Given the description of an element on the screen output the (x, y) to click on. 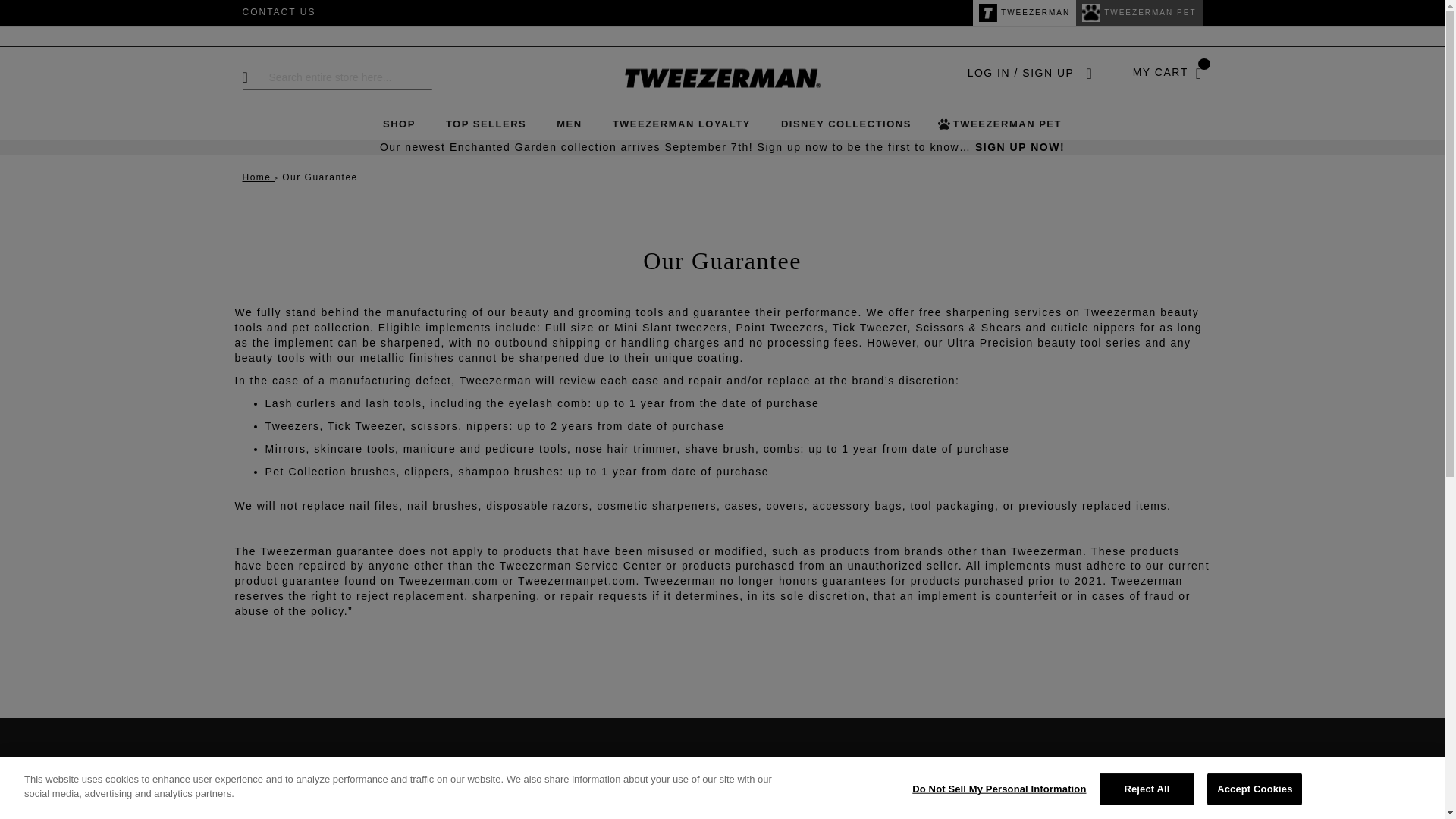
Tweezerman (1023, 12)
Join (1146, 809)
MY CART (1168, 73)
Go to Home Page (259, 176)
Tweezerman Pet (1138, 12)
CONTACT US (279, 11)
Tweezerman home page (722, 76)
TWEEZERMAN (1023, 12)
SIGN UP NOW! (1017, 146)
TWEEZERMAN PET (1138, 12)
